Given the description of an element on the screen output the (x, y) to click on. 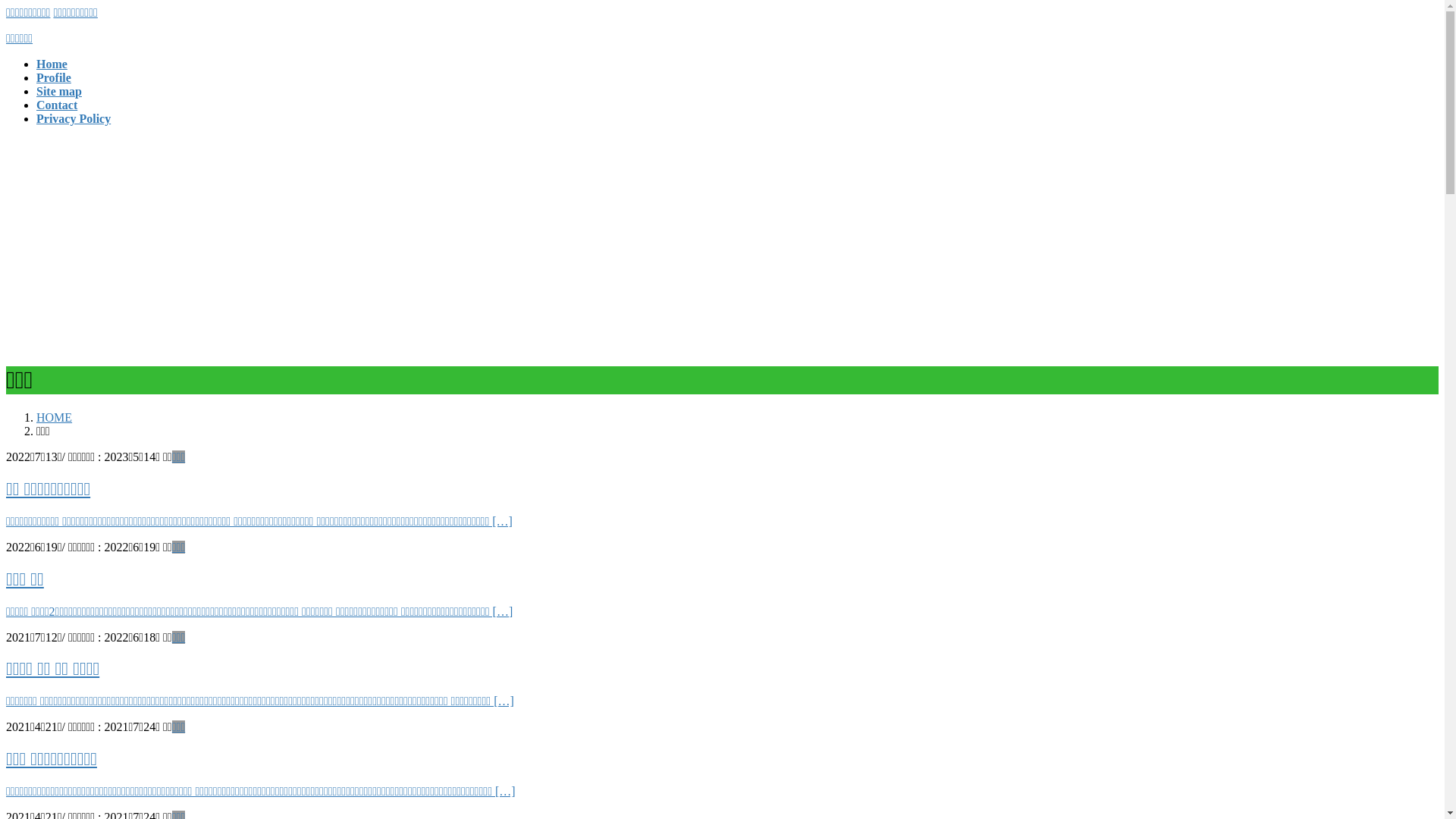
Home Element type: text (51, 63)
Advertisement Element type: hover (721, 244)
HOME Element type: text (54, 417)
Profile Element type: text (53, 77)
Site map Element type: text (58, 90)
Privacy Policy Element type: text (73, 118)
Contact Element type: text (56, 104)
